Given the description of an element on the screen output the (x, y) to click on. 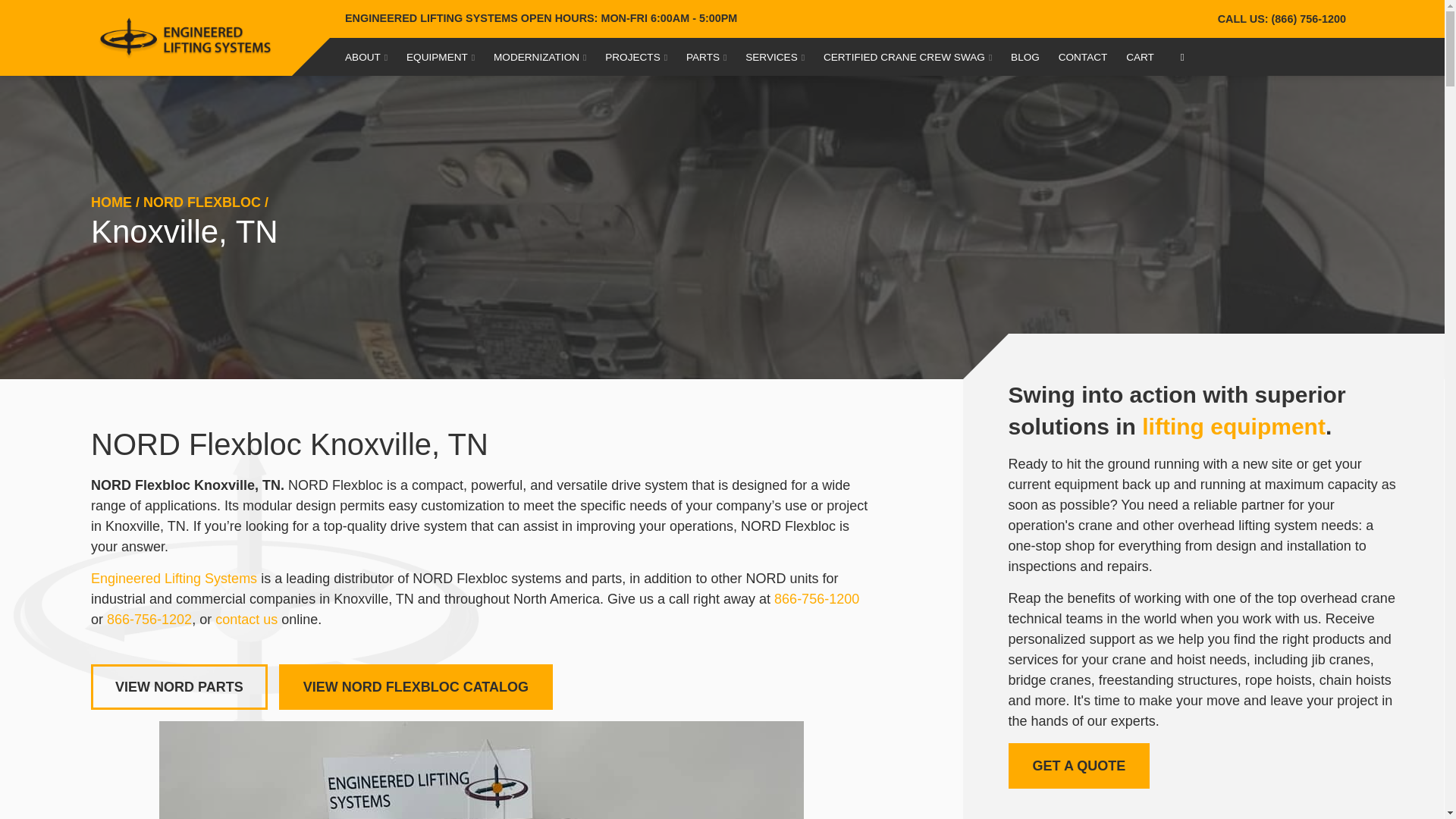
EQUIPMENT (439, 56)
ABOUT (365, 56)
